Given the description of an element on the screen output the (x, y) to click on. 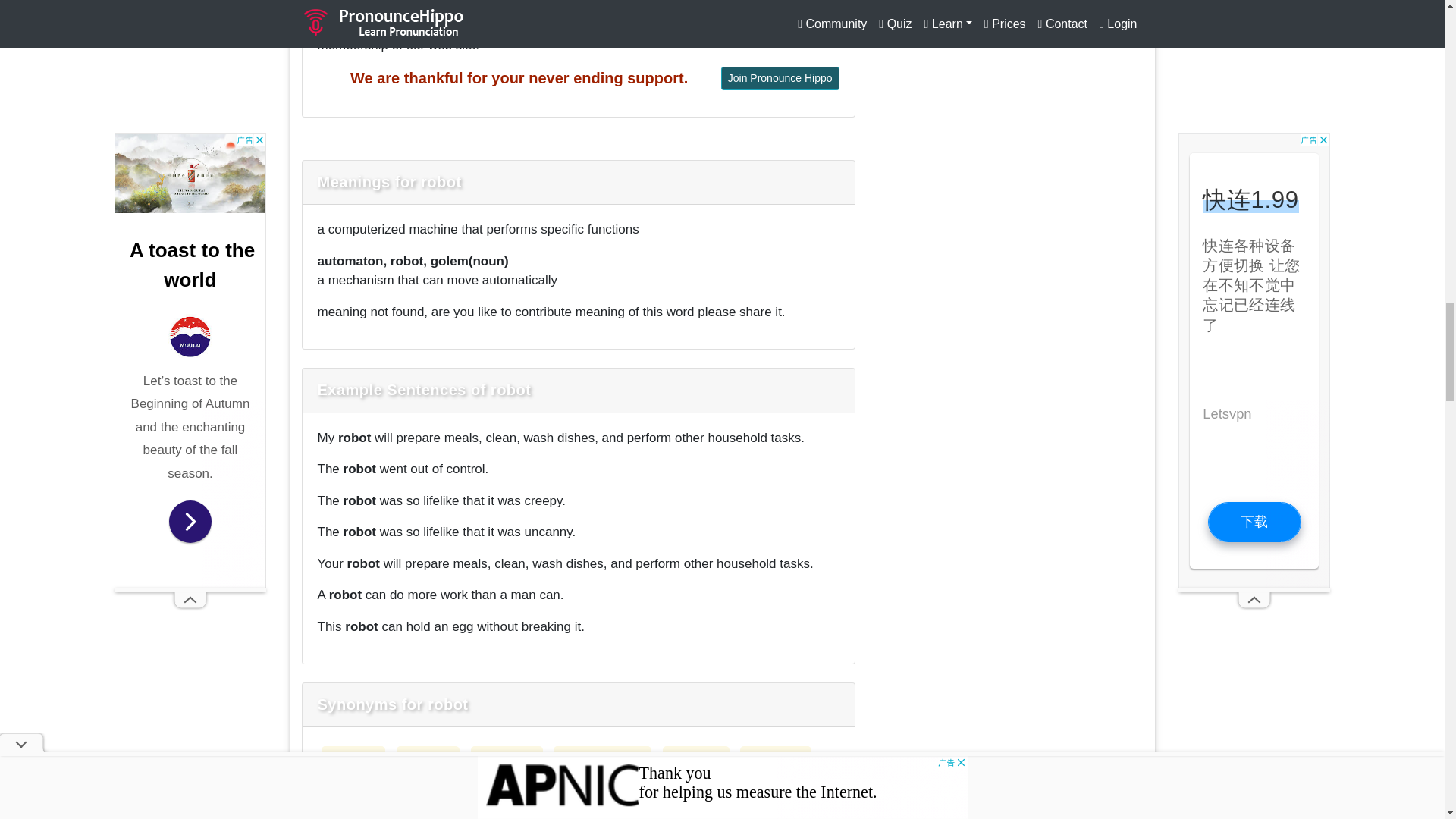
drone (442, 788)
robotic (775, 757)
android (575, 788)
zombie (506, 757)
cranial (726, 788)
How To Pronounce robots (695, 757)
How To Pronounce zombi (427, 757)
robotics (360, 788)
How To Pronounce zombie (506, 757)
rover (652, 788)
